Given the description of an element on the screen output the (x, y) to click on. 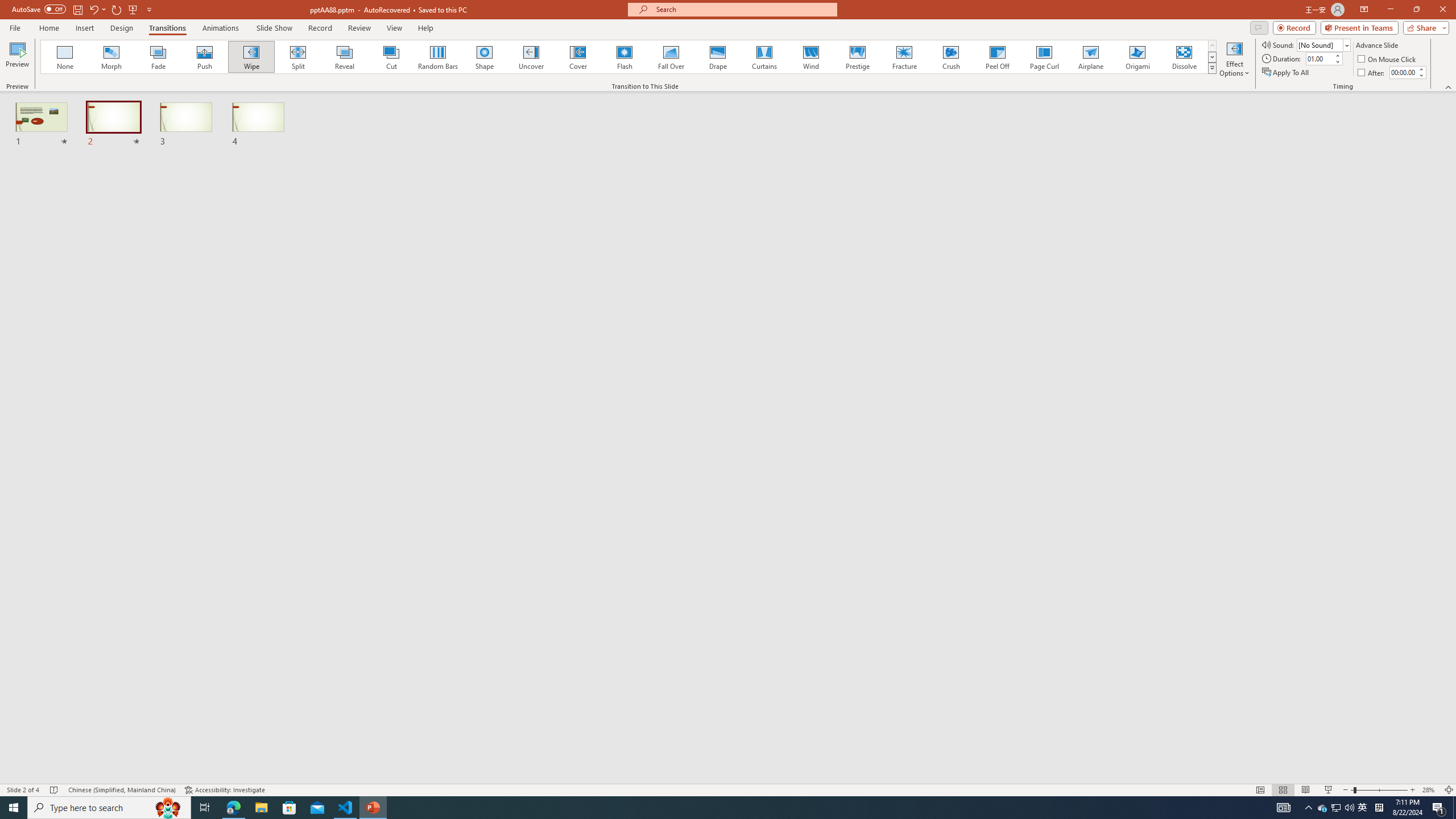
Cover (577, 56)
Dissolve (1183, 56)
Peel Off (997, 56)
Wind (810, 56)
Crush (950, 56)
Airplane (1090, 56)
Drape (717, 56)
